Given the description of an element on the screen output the (x, y) to click on. 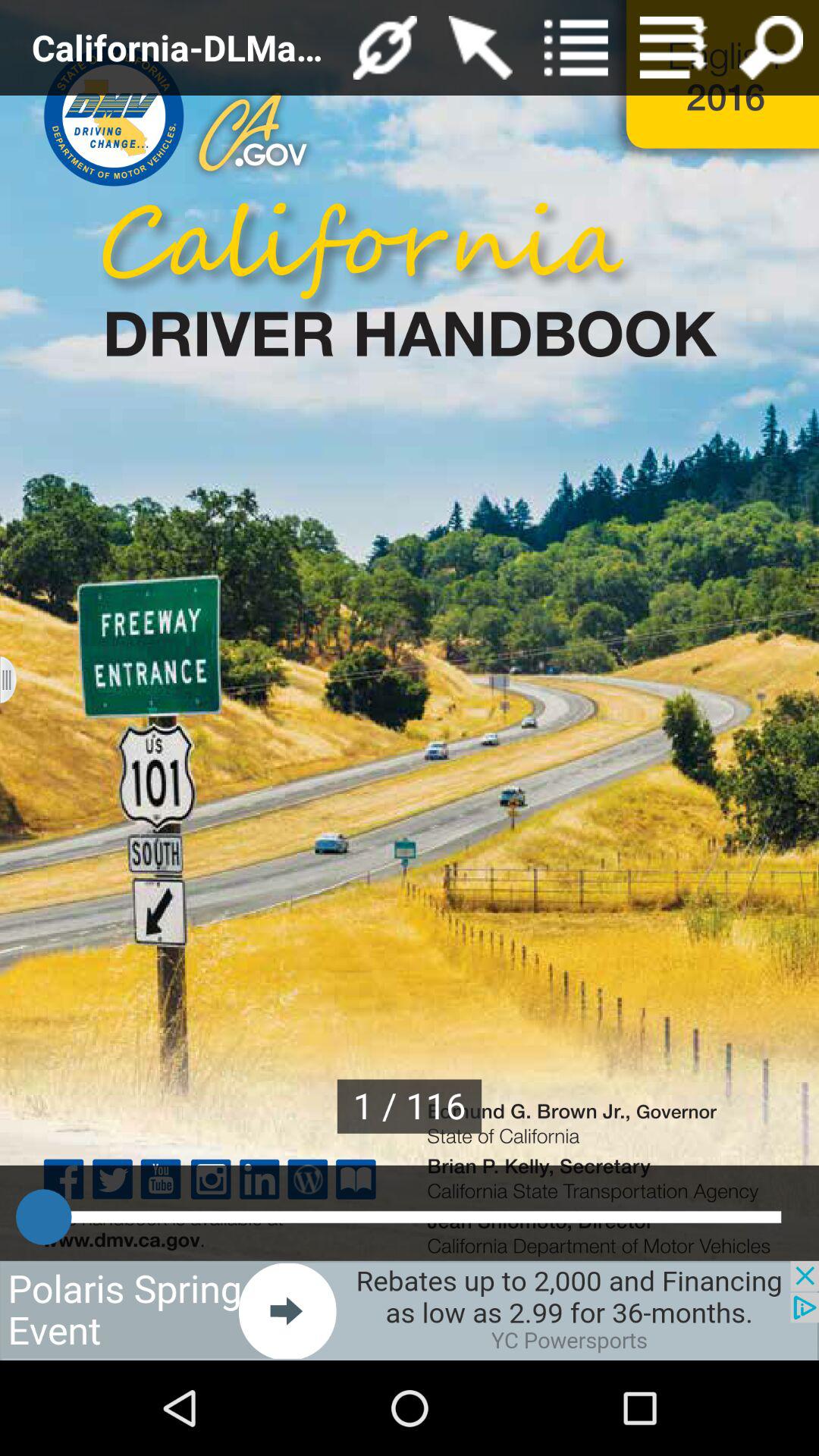
visit this advertiser page (409, 1310)
